Given the description of an element on the screen output the (x, y) to click on. 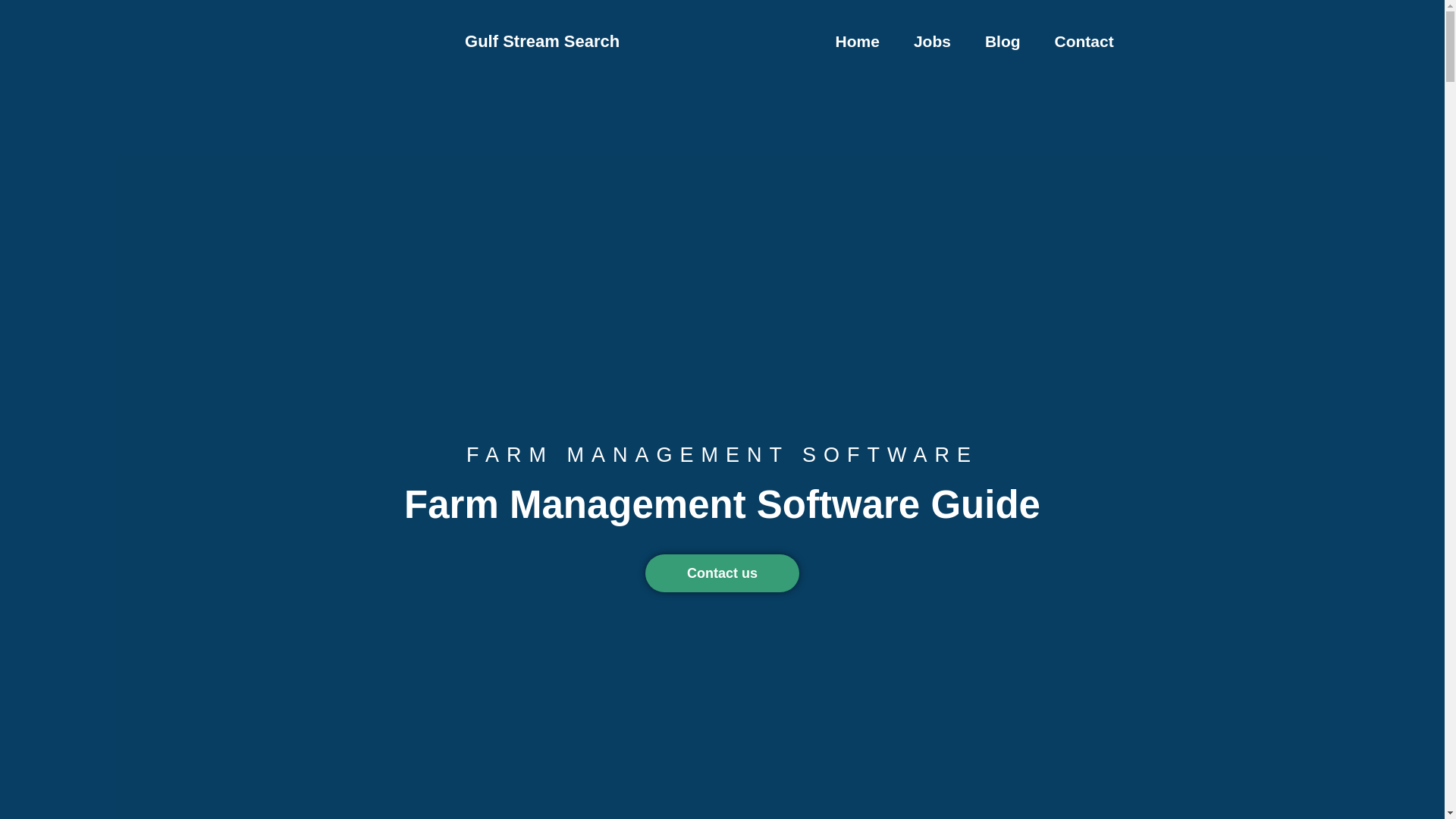
Contact (1084, 41)
Home (858, 41)
Gulf Stream Search (542, 40)
Blog (1002, 41)
Contact us (722, 573)
Jobs (932, 41)
